Given the description of an element on the screen output the (x, y) to click on. 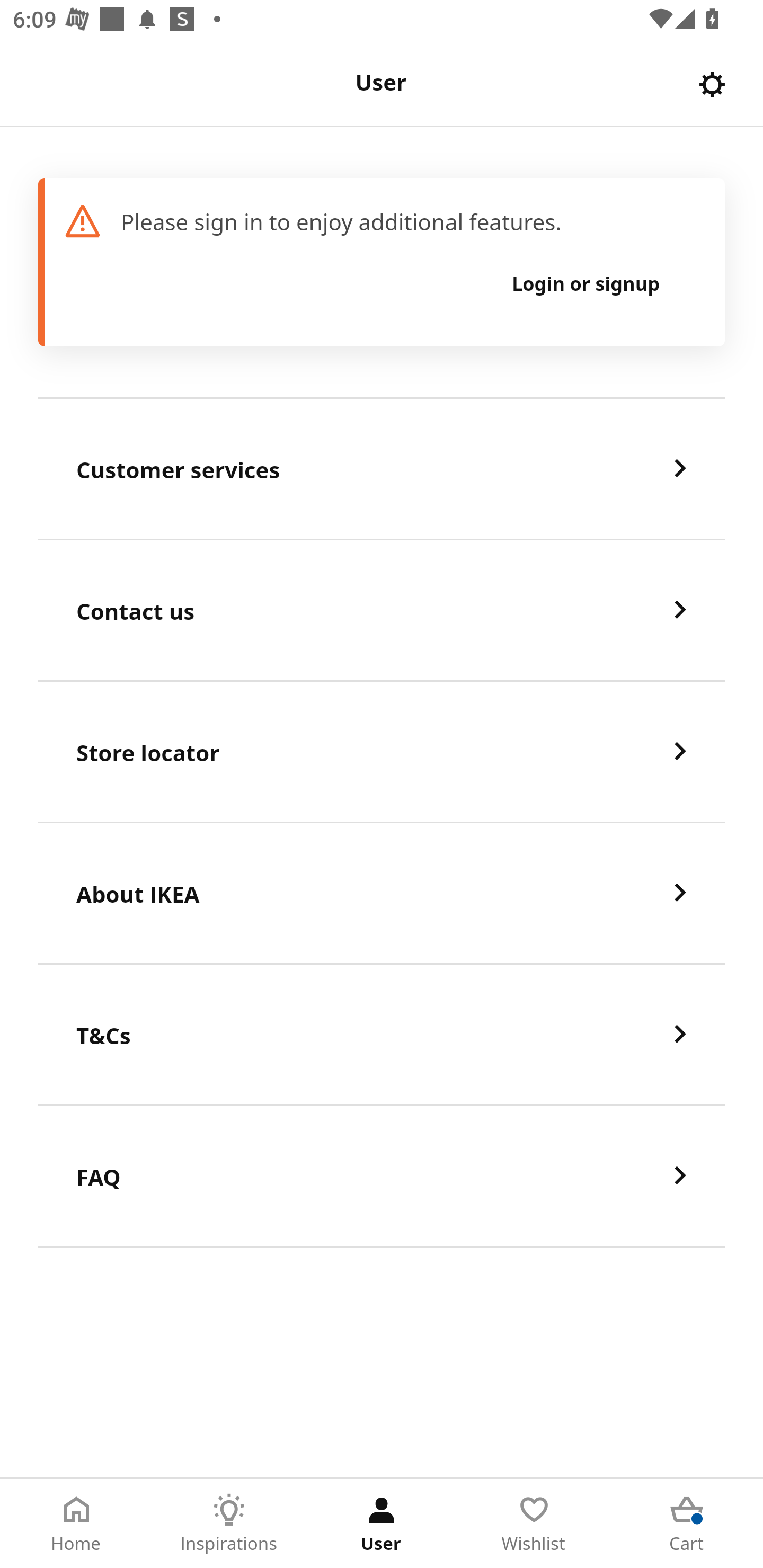
Login or signup (586, 282)
Customer services (381, 469)
Contact us (381, 611)
Store locator (381, 752)
About IKEA (381, 893)
T&Cs (381, 1034)
FAQ (381, 1176)
Home
Tab 1 of 5 (76, 1522)
Inspirations
Tab 2 of 5 (228, 1522)
User
Tab 3 of 5 (381, 1522)
Wishlist
Tab 4 of 5 (533, 1522)
Cart
Tab 5 of 5 (686, 1522)
